Given the description of an element on the screen output the (x, y) to click on. 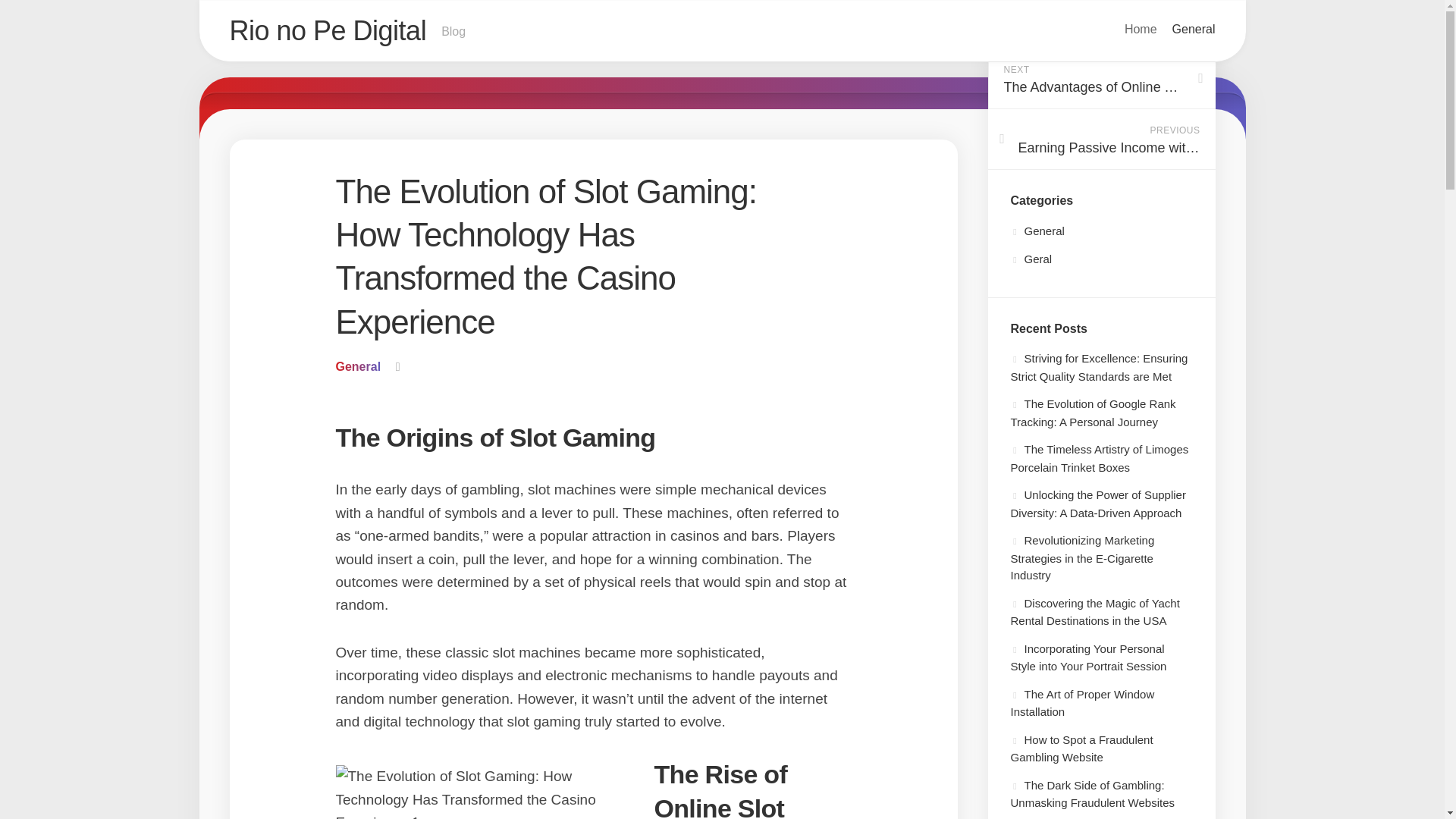
General (357, 366)
The Timeless Artistry of Limoges Porcelain Trinket Boxes (1099, 458)
Rio no Pe Digital (327, 31)
General (1193, 29)
The Evolution of Google Rank Tracking: A Personal Journey (1092, 412)
General (1037, 230)
The Art of Proper Window Installation (1100, 78)
Incorporating Your Personal Style into Your Portrait Session (1082, 702)
Home (1088, 656)
How to Spot a Fraudulent Gambling Website (1140, 29)
